Given the description of an element on the screen output the (x, y) to click on. 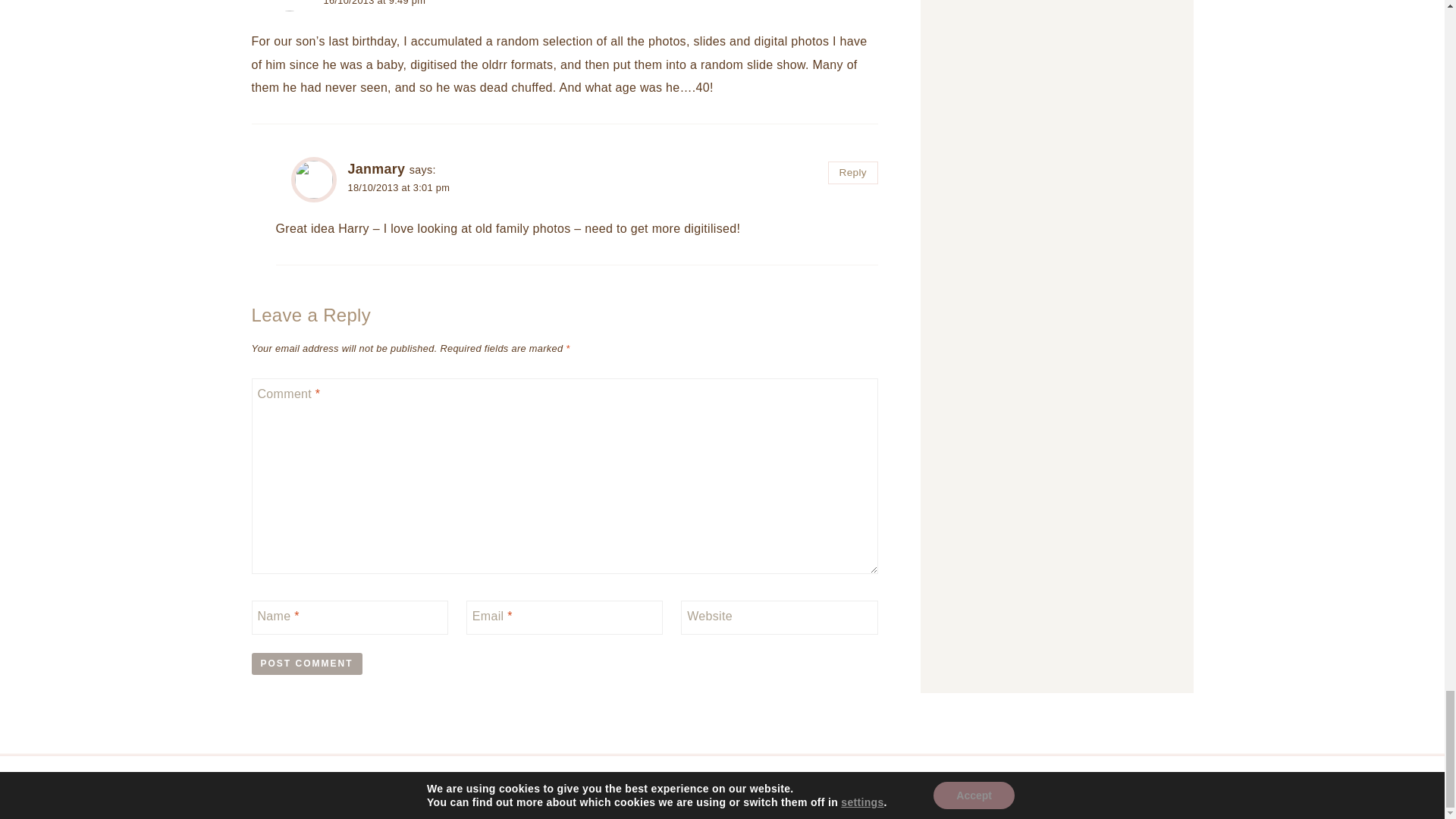
Post Comment (306, 663)
